Given the description of an element on the screen output the (x, y) to click on. 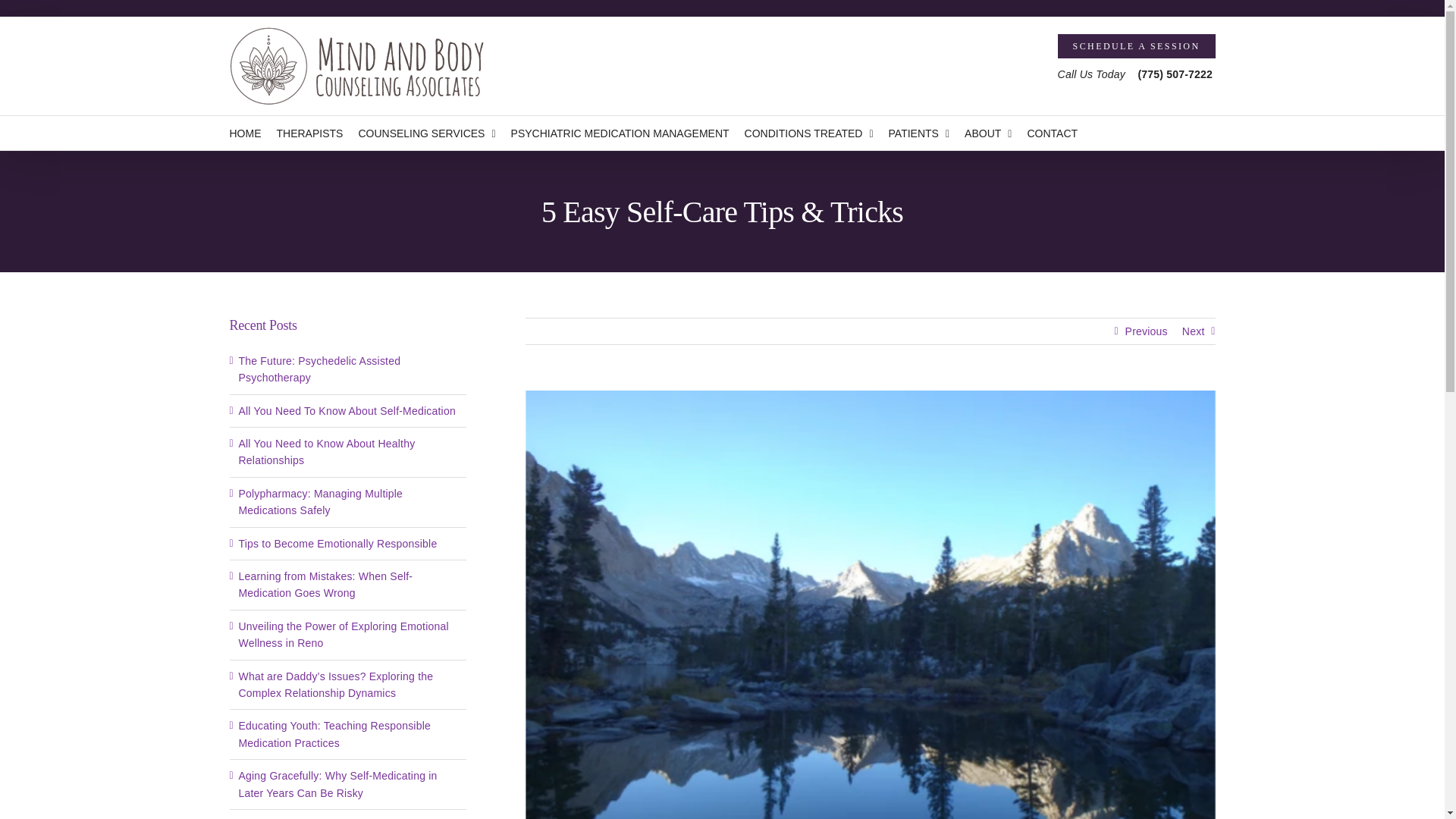
HOME (244, 132)
THERAPISTS (309, 132)
SCHEDULE A SESSION (1136, 46)
COUNSELING SERVICES (426, 132)
ABOUT (987, 132)
PATIENTS (919, 132)
PSYCHIATRIC MEDICATION MANAGEMENT (620, 132)
CONTACT (1051, 132)
CONDITIONS TREATED (808, 132)
